Given the description of an element on the screen output the (x, y) to click on. 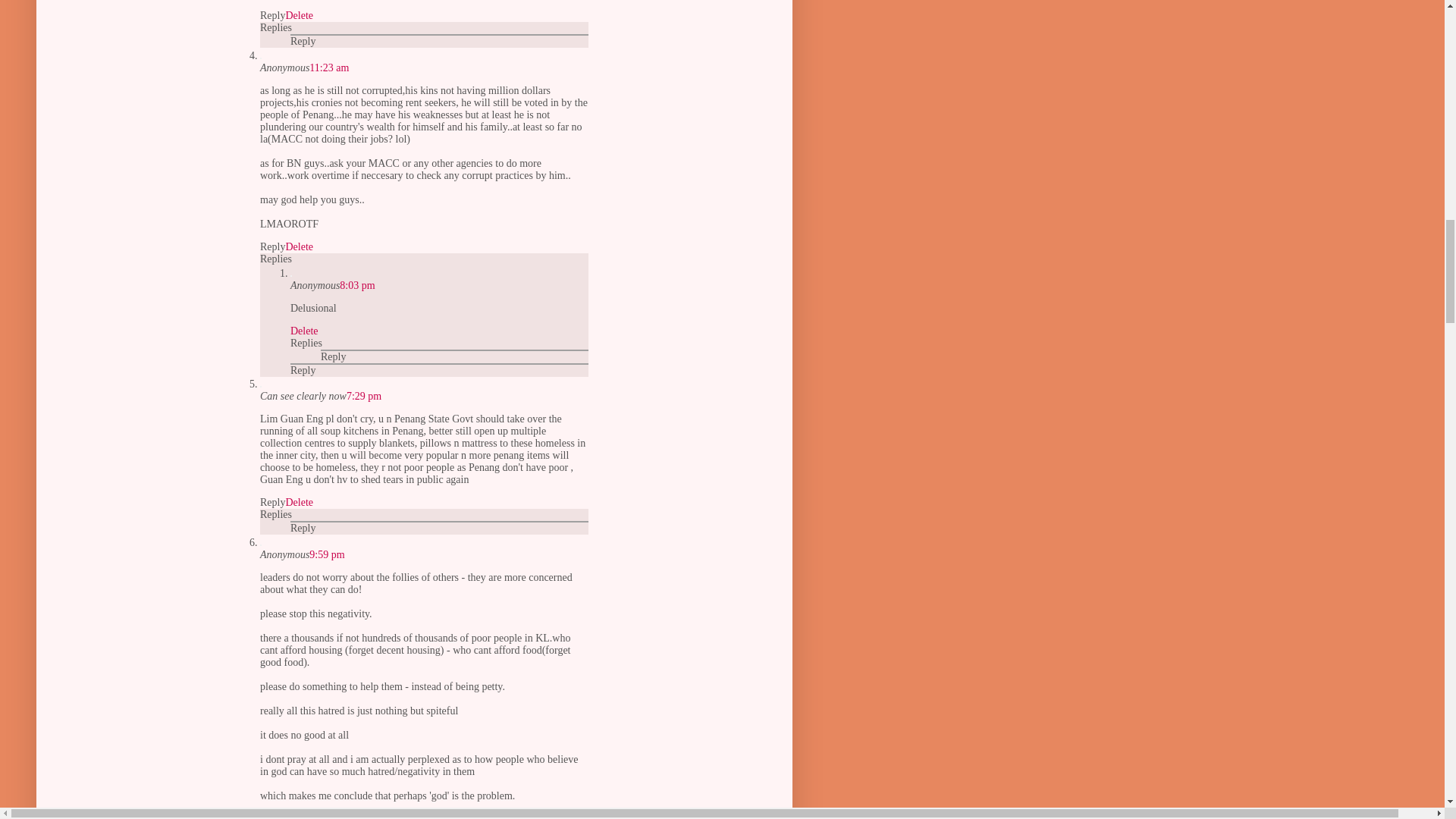
Reply (272, 15)
Delete (299, 246)
Replies (276, 258)
Reply (333, 356)
Replies (276, 27)
Delete (299, 501)
Reply (272, 246)
Replies (305, 342)
Reply (302, 369)
7:29 pm (363, 396)
11:23 am (328, 67)
Reply (272, 501)
Delete (303, 330)
Reply (302, 41)
8:03 pm (356, 285)
